Given the description of an element on the screen output the (x, y) to click on. 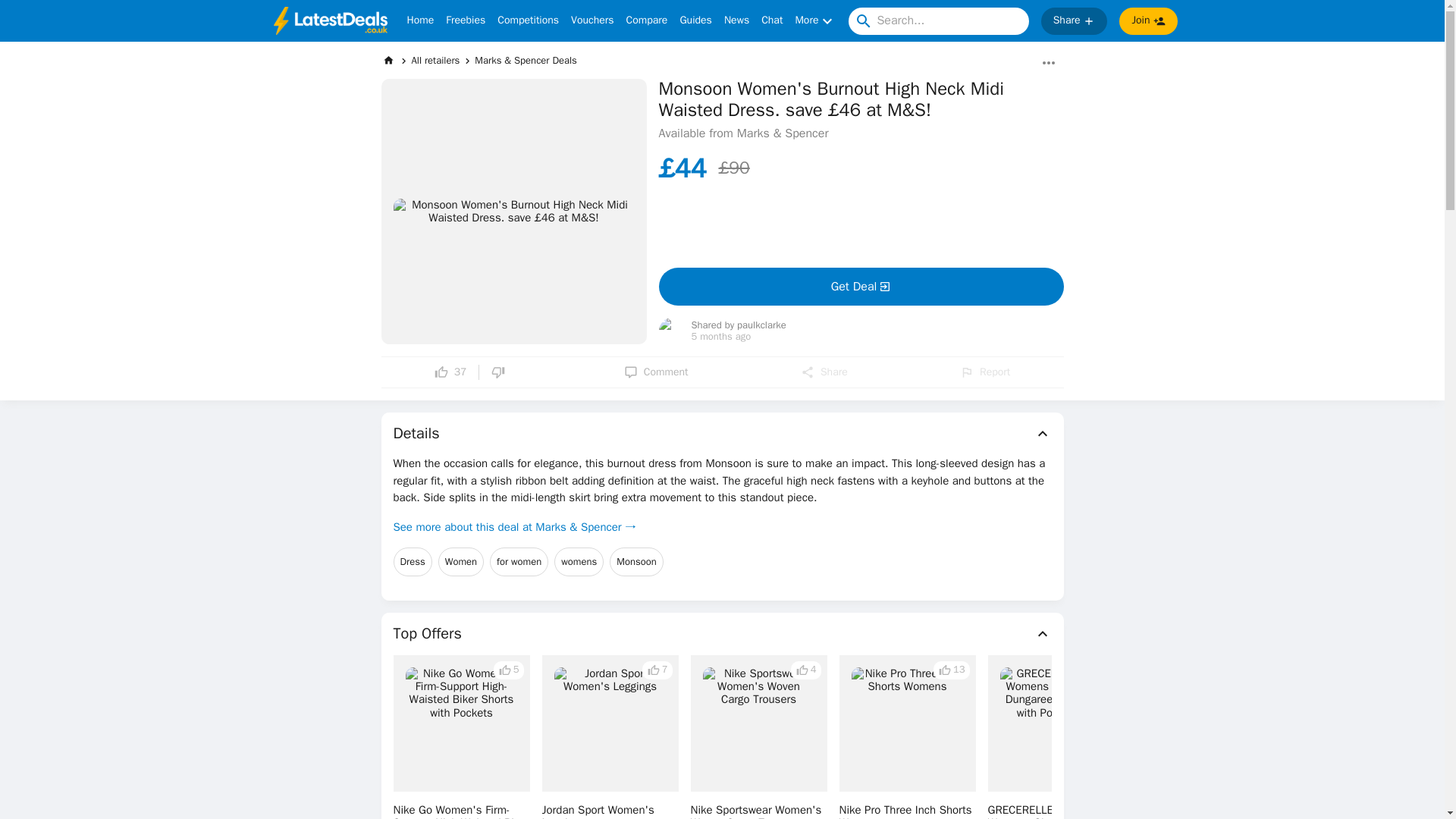
Share (823, 371)
Dress (411, 561)
Vouchers (591, 21)
37 (450, 372)
All retailers (435, 60)
Compare (647, 21)
Top Offers (722, 633)
Details (722, 434)
More (814, 21)
Guides (695, 21)
